Given the description of an element on the screen output the (x, y) to click on. 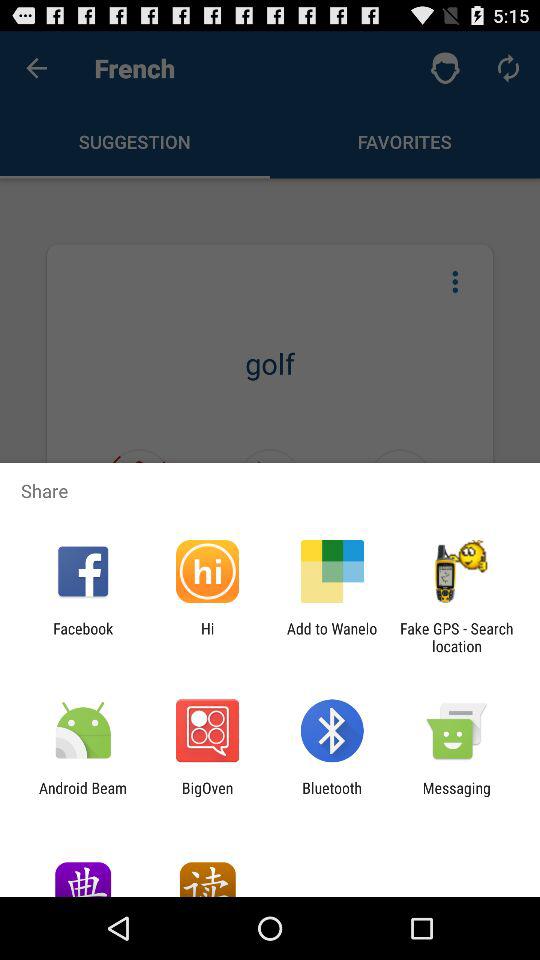
tap the app next to the fake gps search app (331, 637)
